Given the description of an element on the screen output the (x, y) to click on. 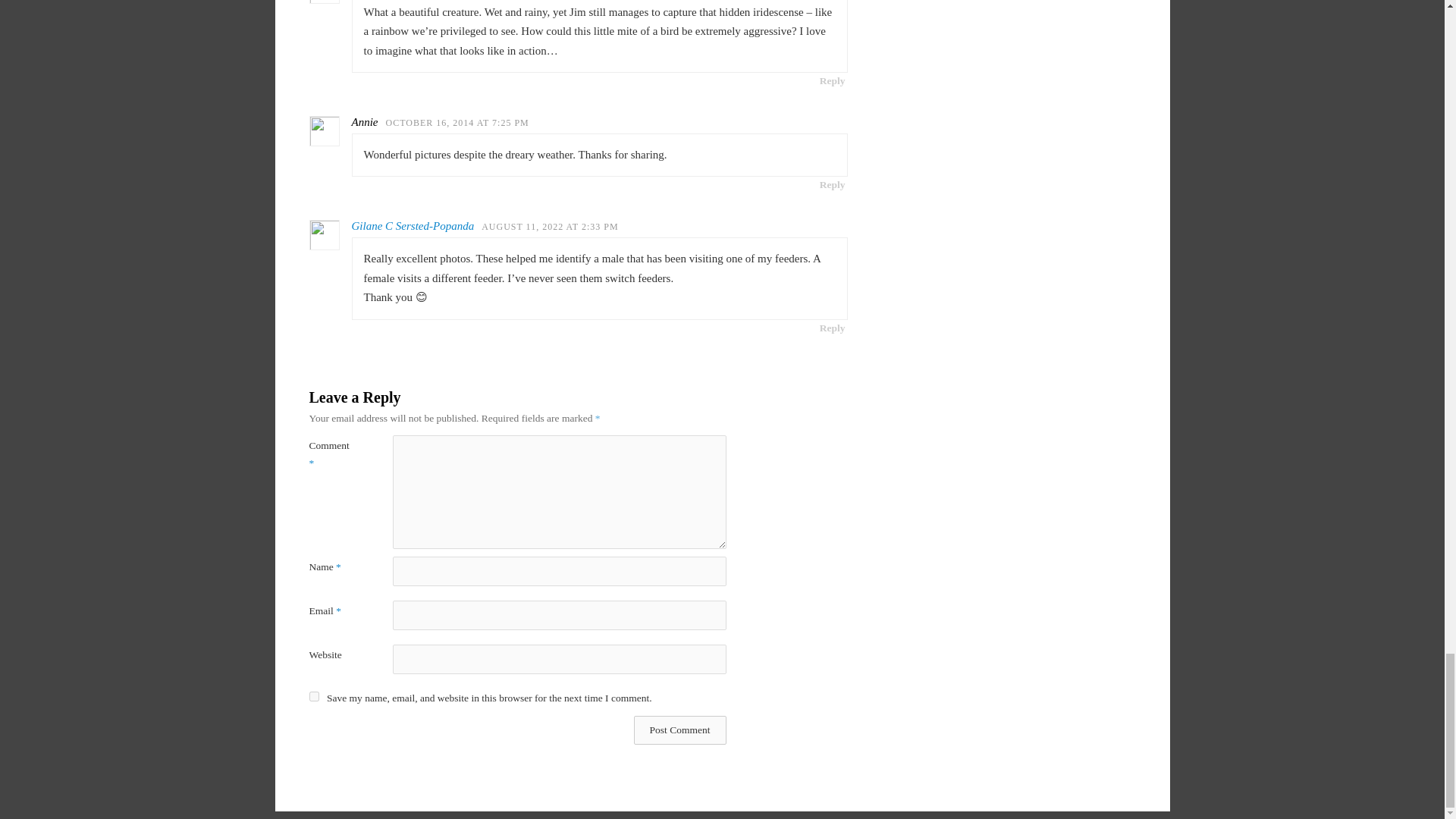
yes (313, 696)
Reply (831, 80)
Post Comment (679, 729)
